Given the description of an element on the screen output the (x, y) to click on. 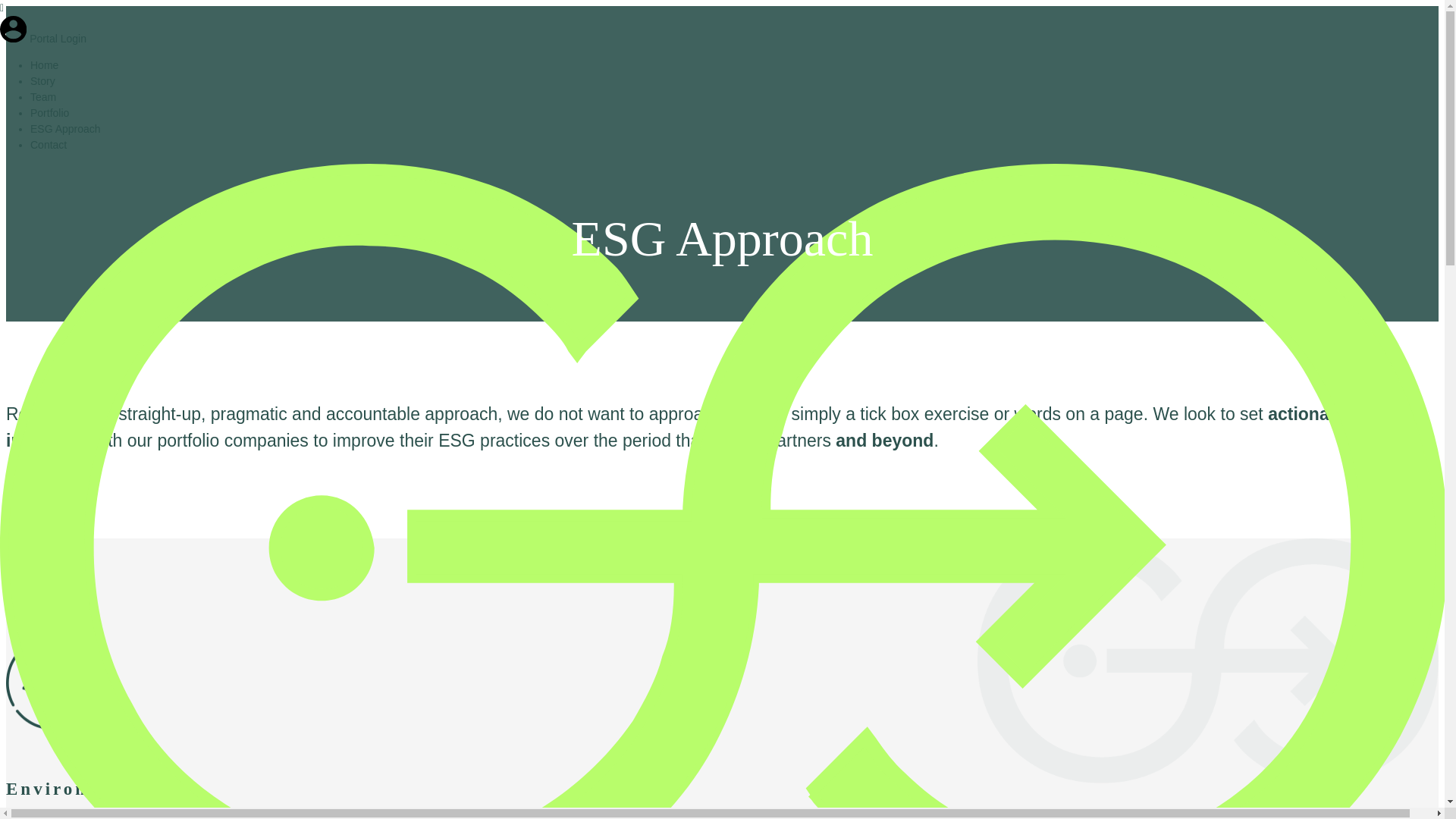
Team (43, 96)
Story (42, 80)
Contact (48, 144)
ESG Approach (65, 128)
Home (44, 64)
Portal Login (42, 38)
Portfolio (49, 112)
